Given the description of an element on the screen output the (x, y) to click on. 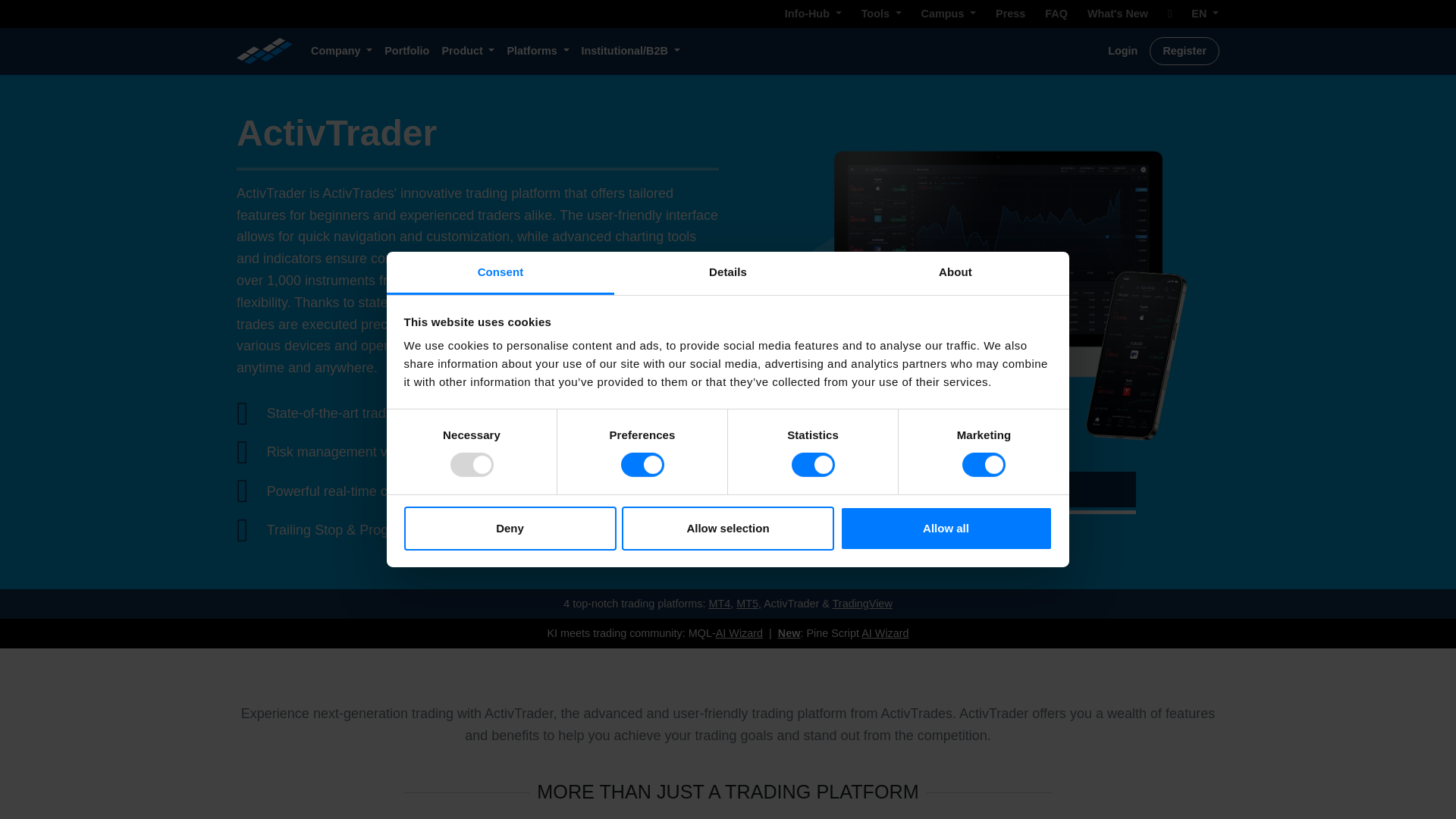
Consent (500, 272)
Details (727, 272)
About (954, 272)
